Given the description of an element on the screen output the (x, y) to click on. 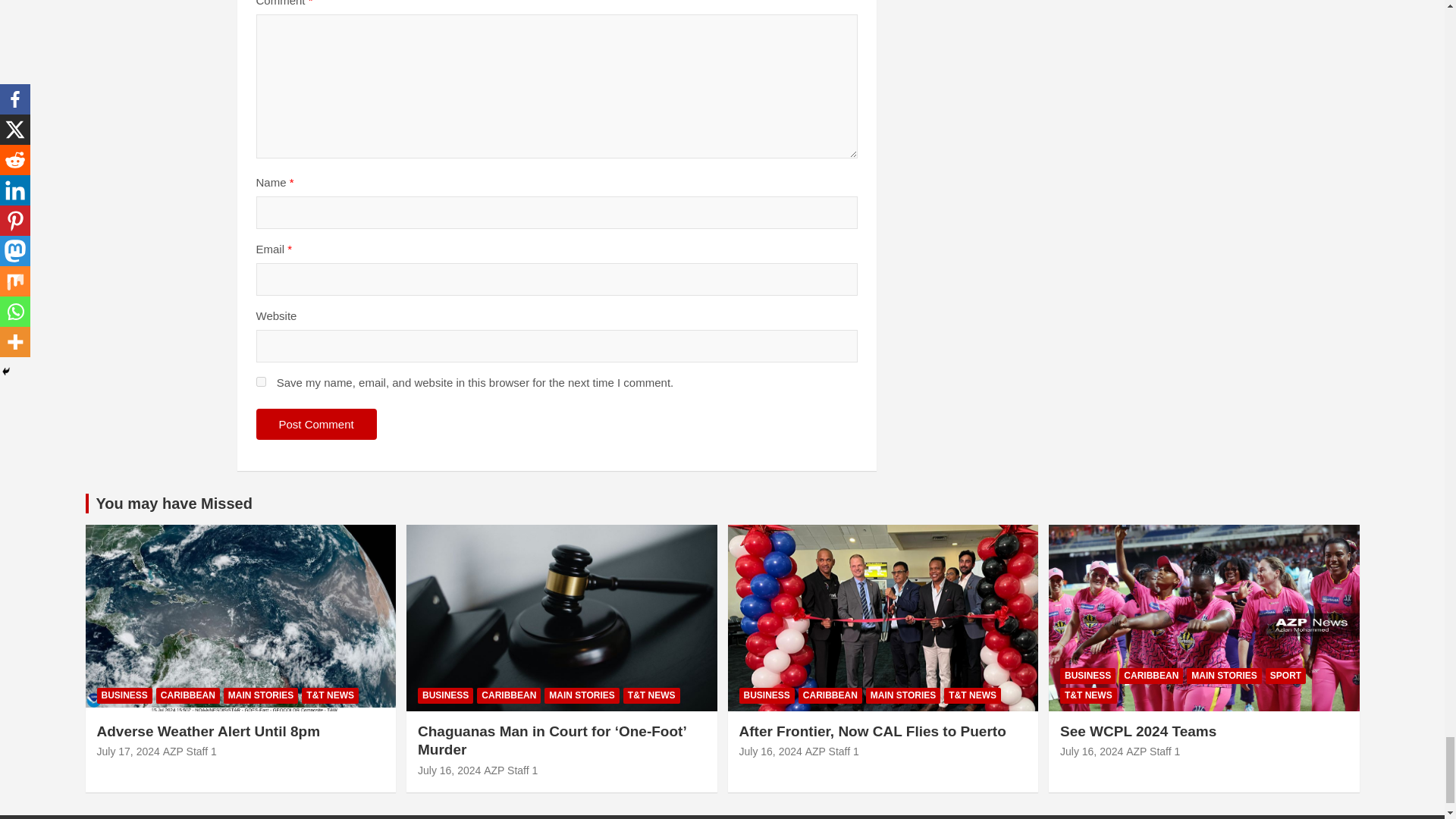
Post Comment (316, 423)
yes (261, 381)
